Given the description of an element on the screen output the (x, y) to click on. 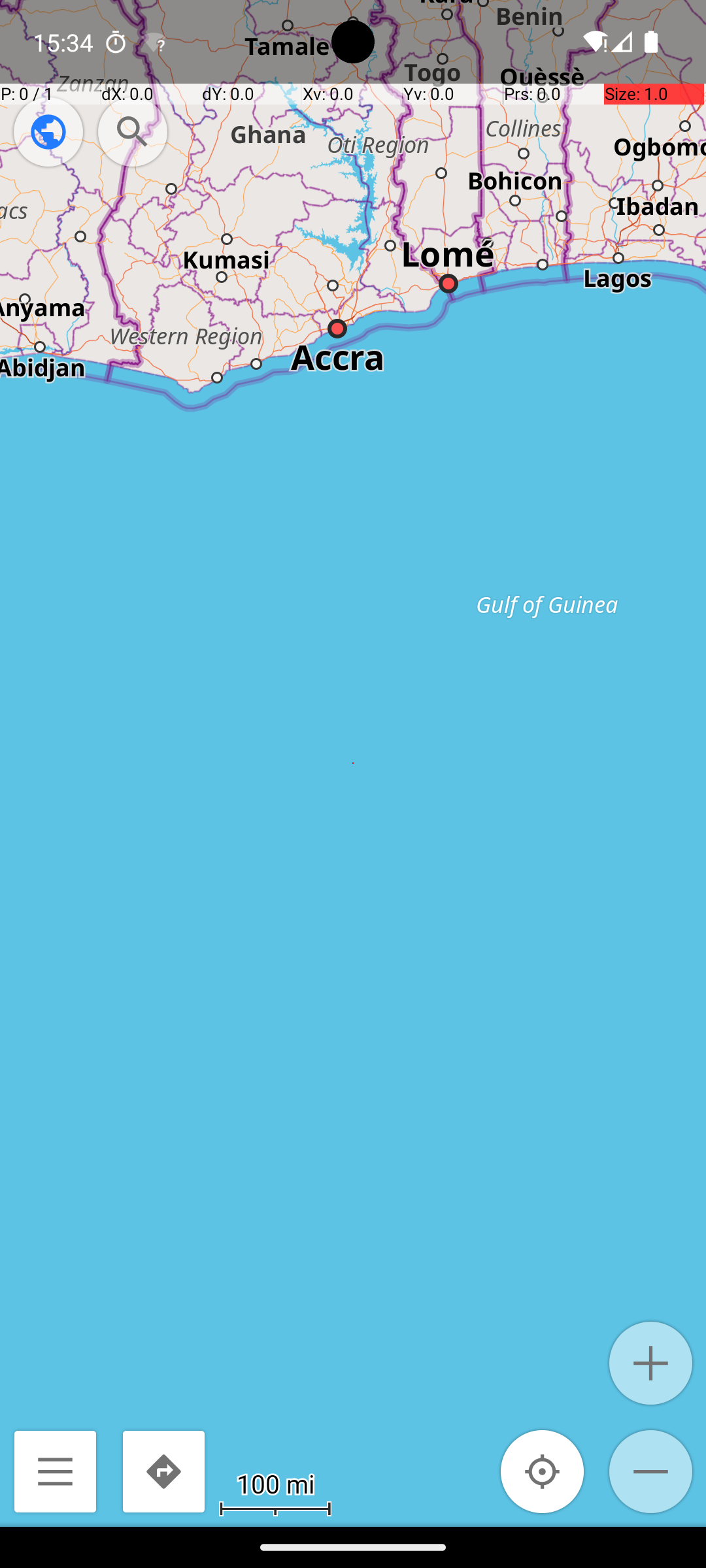
100 mi Element type: android.widget.TextView (274, 1483)
